Given the description of an element on the screen output the (x, y) to click on. 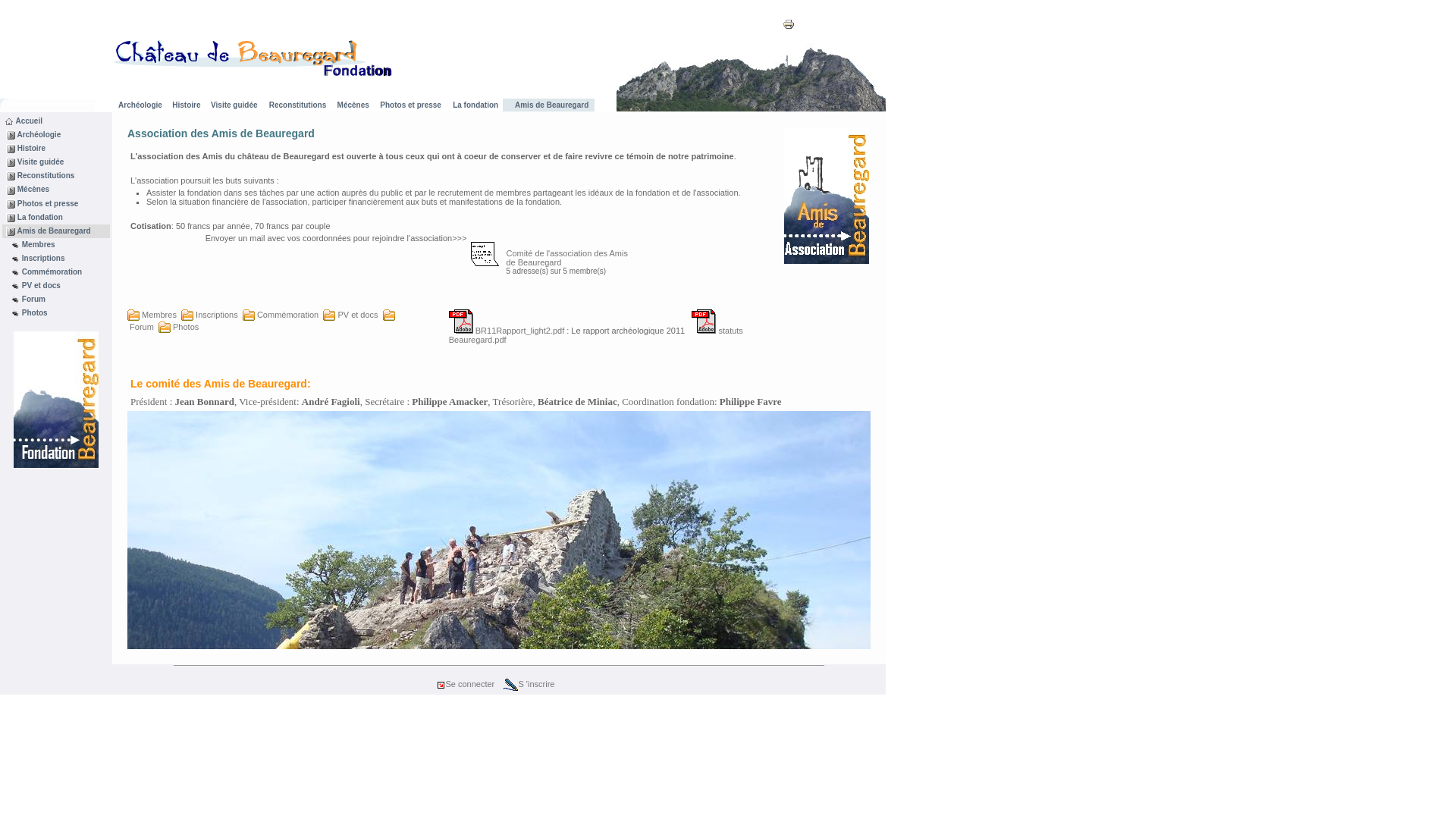
 Inscriptions Element type: text (41, 257)
 Photos et presse Element type: text (409, 104)
 Amis de Beauregard Element type: text (551, 104)
 Membres Element type: text (151, 314)
Vue imprimable Element type: hover (788, 26)
Se connecter Element type: text (465, 683)
 Forum Element type: text (32, 298)
 Photos et presse Element type: text (46, 202)
 Reconstitutions Element type: text (44, 174)
 statuts Beauregard.pdf Element type: text (595, 335)
 La fondation Element type: text (38, 216)
 BR11Rapport_light2.pdf Element type: text (506, 330)
 Membres Element type: text (37, 243)
 Histoire Element type: text (30, 147)
 Inscriptions Element type: text (209, 314)
 Accueil Element type: text (27, 120)
 Amis de Beauregard Element type: text (53, 230)
 Histoire Element type: text (184, 104)
 Photos Element type: text (178, 326)
 Forum Element type: text (261, 320)
 La fondation Element type: text (474, 104)
 Photos Element type: text (33, 311)
 Reconstitutions Element type: text (296, 104)
S 'inscrire Element type: text (528, 683)
 PV et docs Element type: text (39, 284)
 PV et docs Element type: text (350, 314)
